Given the description of an element on the screen output the (x, y) to click on. 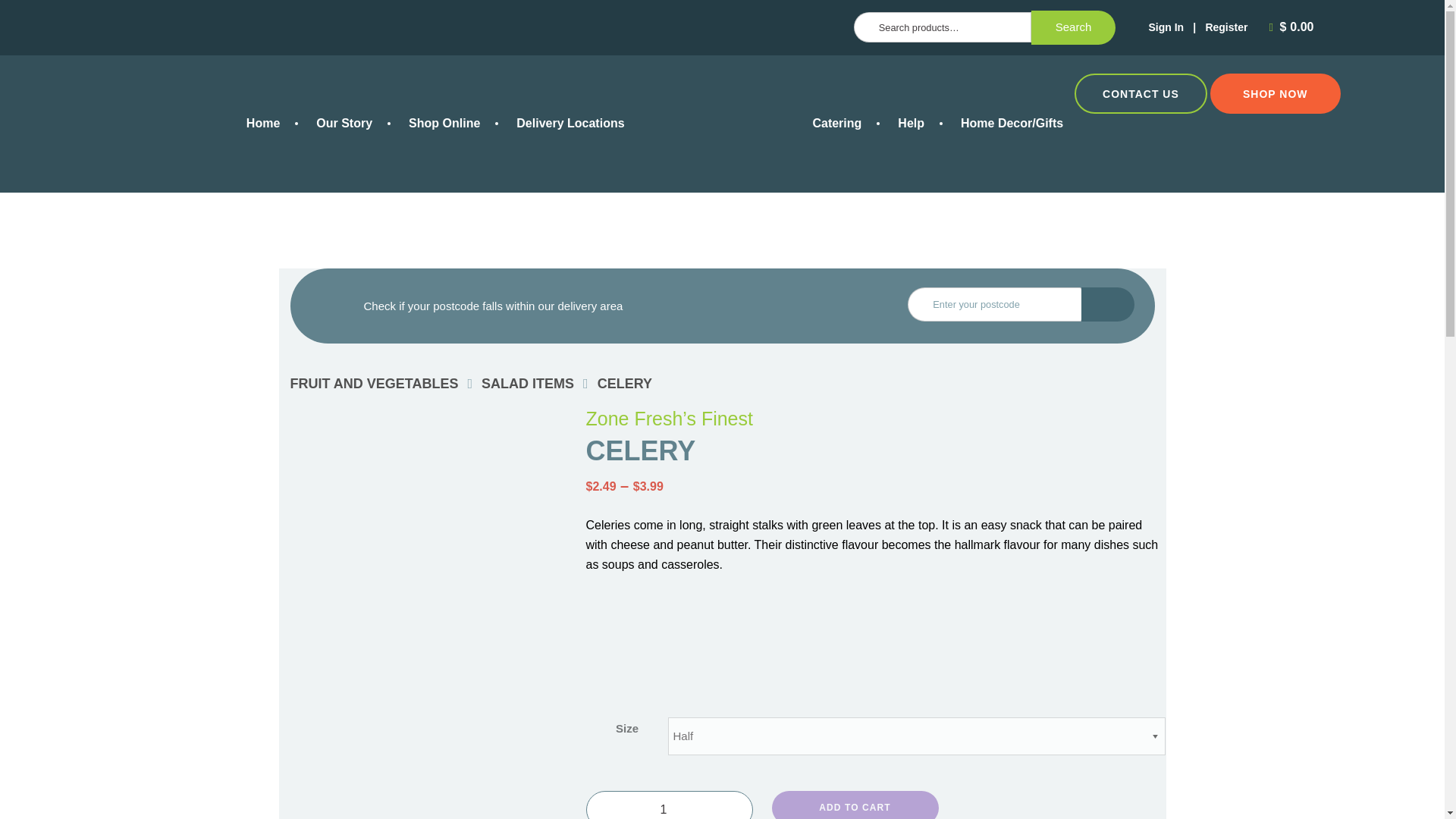
SHOP NOW (1274, 92)
View your shopping cart (1293, 26)
Sign In (1165, 27)
1 (668, 805)
Home (263, 123)
Search (1073, 27)
Register (1226, 27)
ADD TO CART (855, 805)
Shop Online (443, 123)
Help (910, 123)
FRUIT AND VEGETABLES (373, 383)
Catering (836, 123)
Delivery Locations (569, 123)
CONTACT US (1140, 92)
Our Story (344, 123)
